Given the description of an element on the screen output the (x, y) to click on. 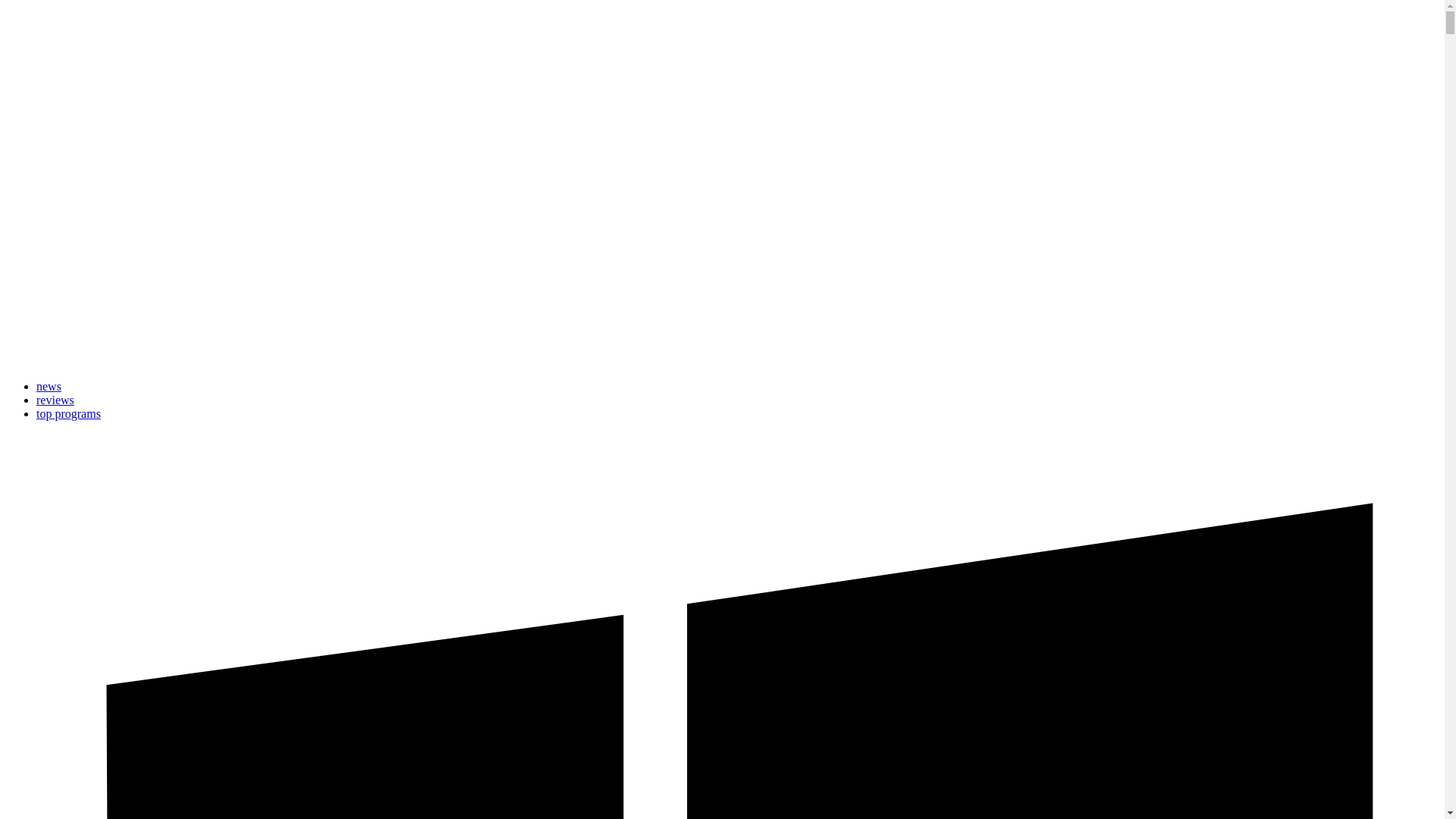
News (48, 386)
news (48, 386)
Reviews (55, 399)
Top Programs (68, 413)
reviews (55, 399)
top programs (68, 413)
